Given the description of an element on the screen output the (x, y) to click on. 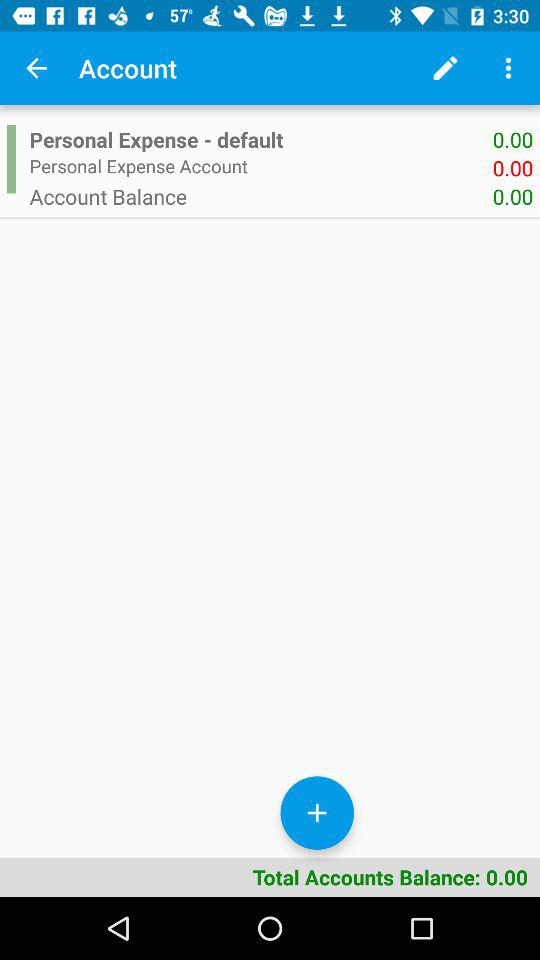
launch account balance (260, 196)
